Given the description of an element on the screen output the (x, y) to click on. 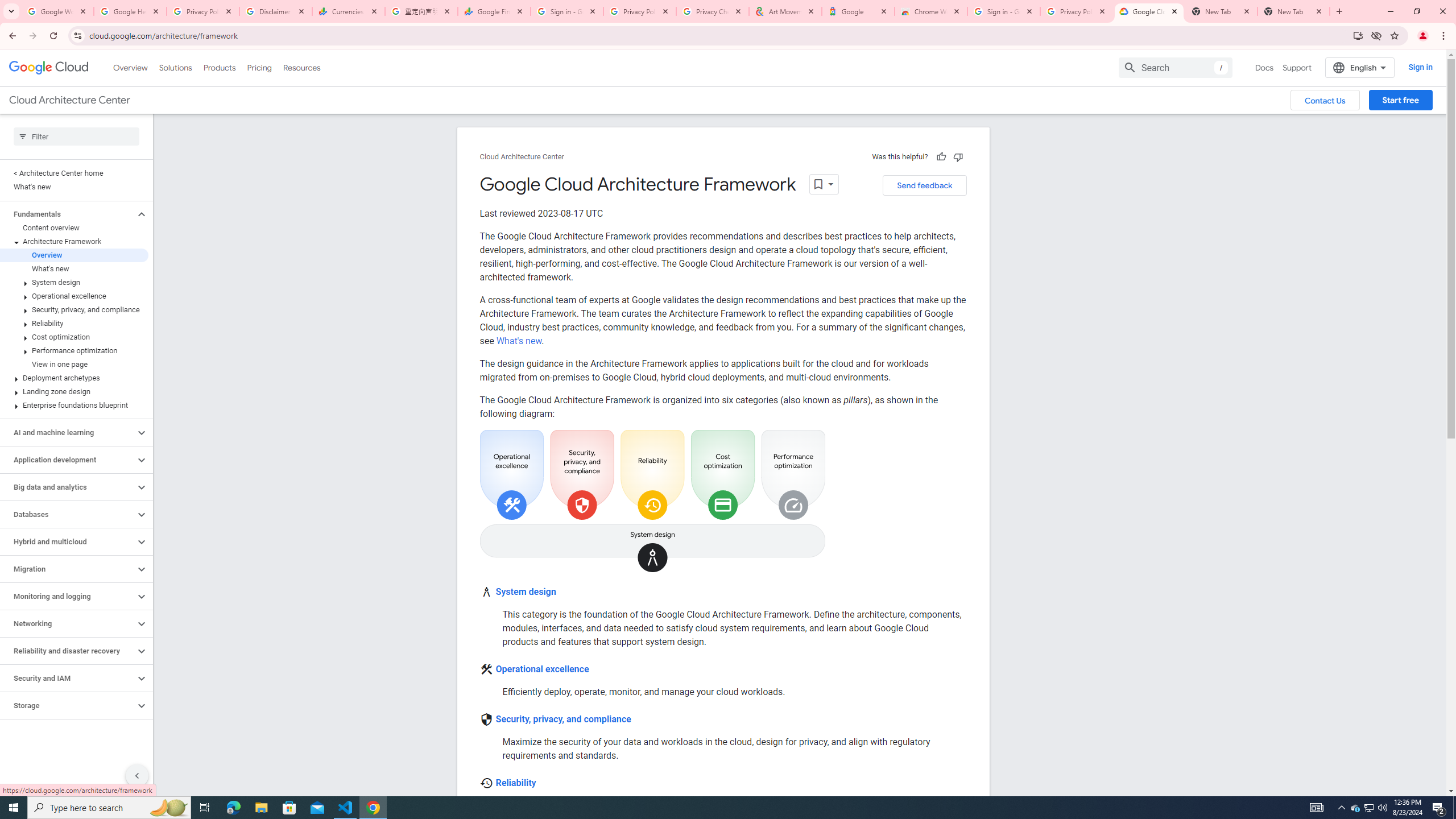
Docs, selected (1264, 67)
Sign in - Google Accounts (1003, 11)
Google Cloud Architecture Framework (652, 500)
New Tab (1293, 11)
Start free (1400, 100)
Solutions (175, 67)
View in one page (74, 364)
Google (857, 11)
Deployment archetypes (74, 377)
Networking (67, 623)
